Given the description of an element on the screen output the (x, y) to click on. 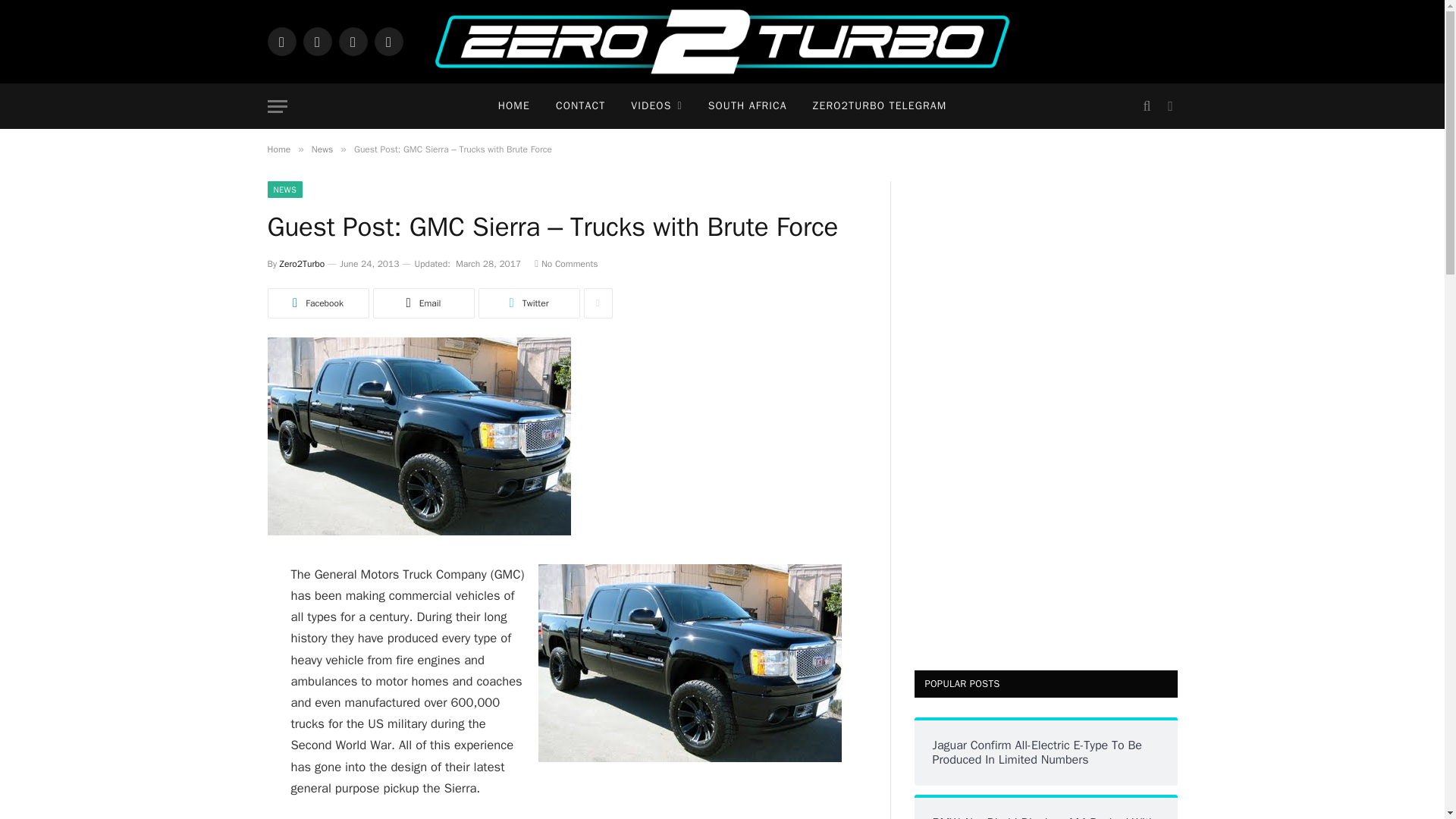
Share on Facebook (317, 303)
Zero2Turbo (301, 263)
ZERO2TURBO TELEGRAM (879, 105)
CONTACT (580, 105)
Facebook (280, 41)
Switch to Dark Design - easier on eyes. (1168, 106)
News (322, 149)
Twitter (528, 303)
NEWS (284, 189)
Facebook (317, 303)
